Given the description of an element on the screen output the (x, y) to click on. 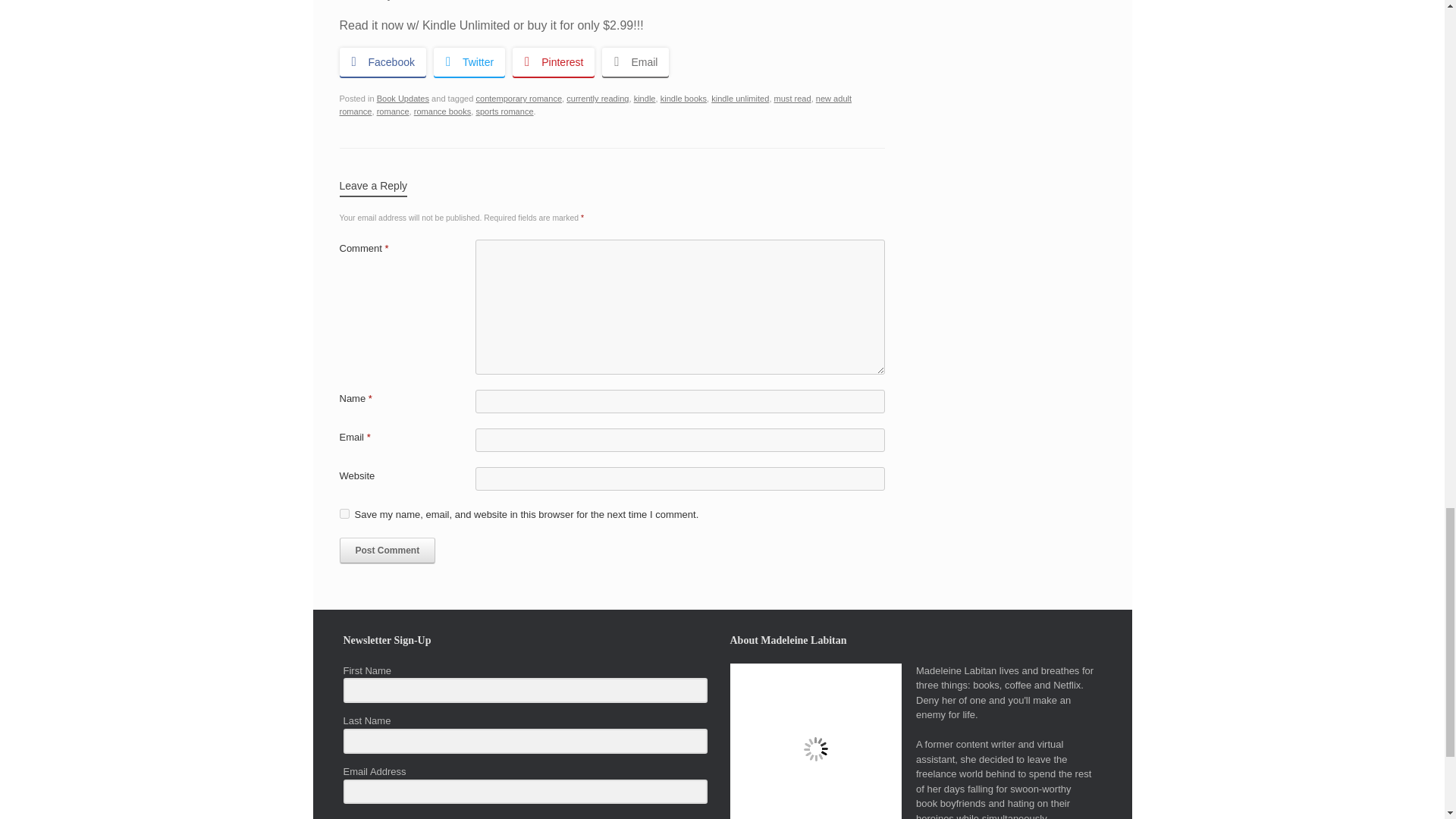
Post Comment (387, 550)
contemporary romance (519, 98)
kindle unlimited (739, 98)
Pinterest (553, 61)
Facebook (382, 61)
romance books (442, 111)
yes (344, 513)
must read (792, 98)
new adult romance (595, 105)
